Given the description of an element on the screen output the (x, y) to click on. 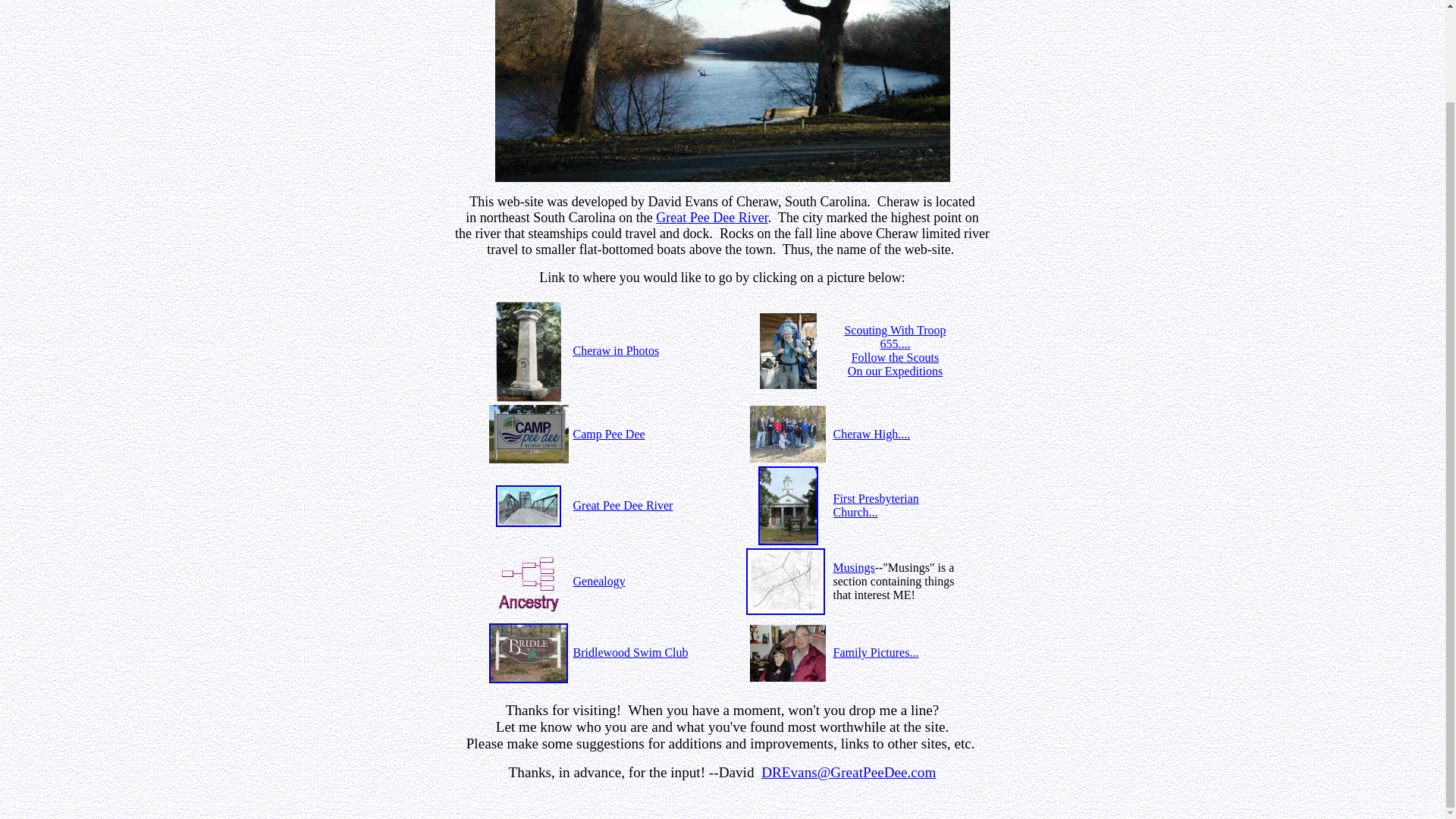
Family Pictures... (875, 652)
Great Pee Dee River (622, 504)
First Presbyterian Church... (875, 505)
Cheraw in Photos (616, 350)
Bridlewood Swim Club (630, 652)
Camp Pee Dee (609, 432)
Genealogy (599, 581)
Musings (853, 567)
Cheraw High.... (871, 432)
Great Pee Dee River (711, 217)
